Given the description of an element on the screen output the (x, y) to click on. 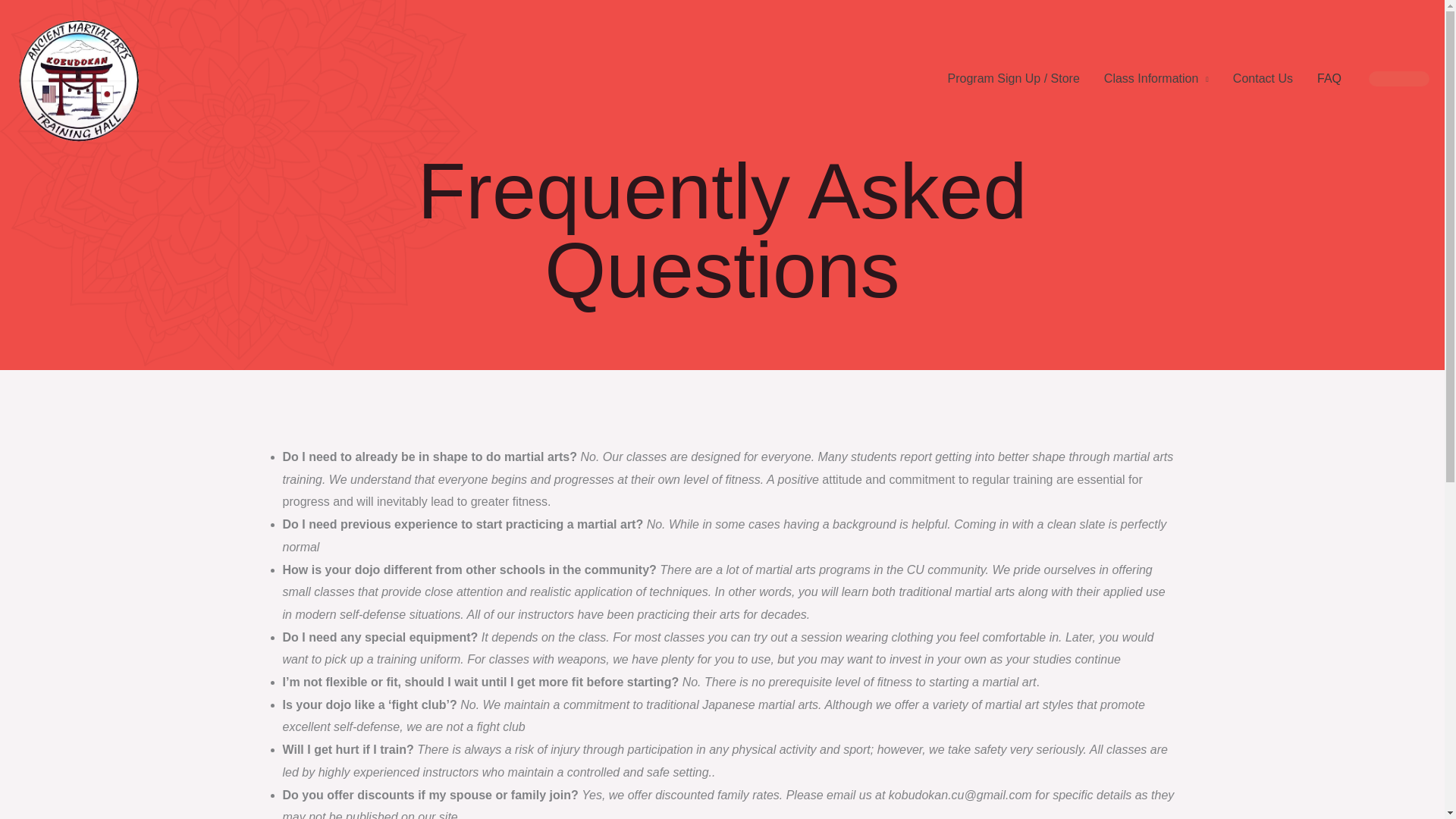
Class Information (1156, 78)
Contact Us (1262, 78)
FAQ (1329, 78)
